Given the description of an element on the screen output the (x, y) to click on. 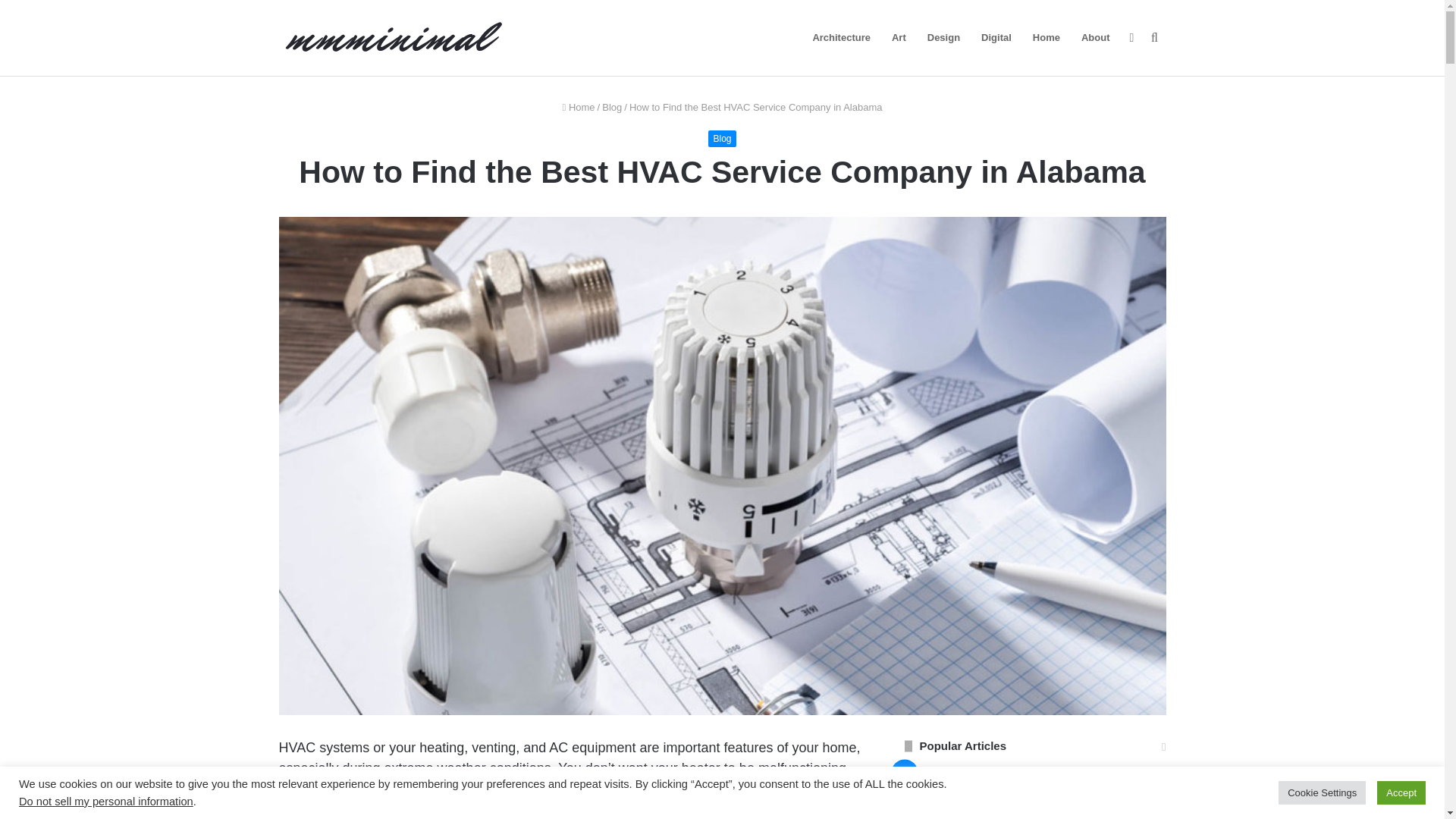
mmminimal (392, 37)
Blog (721, 138)
Home (578, 107)
Nulla Bike (1024, 775)
Blog (611, 107)
Architecture (841, 38)
